Given the description of an element on the screen output the (x, y) to click on. 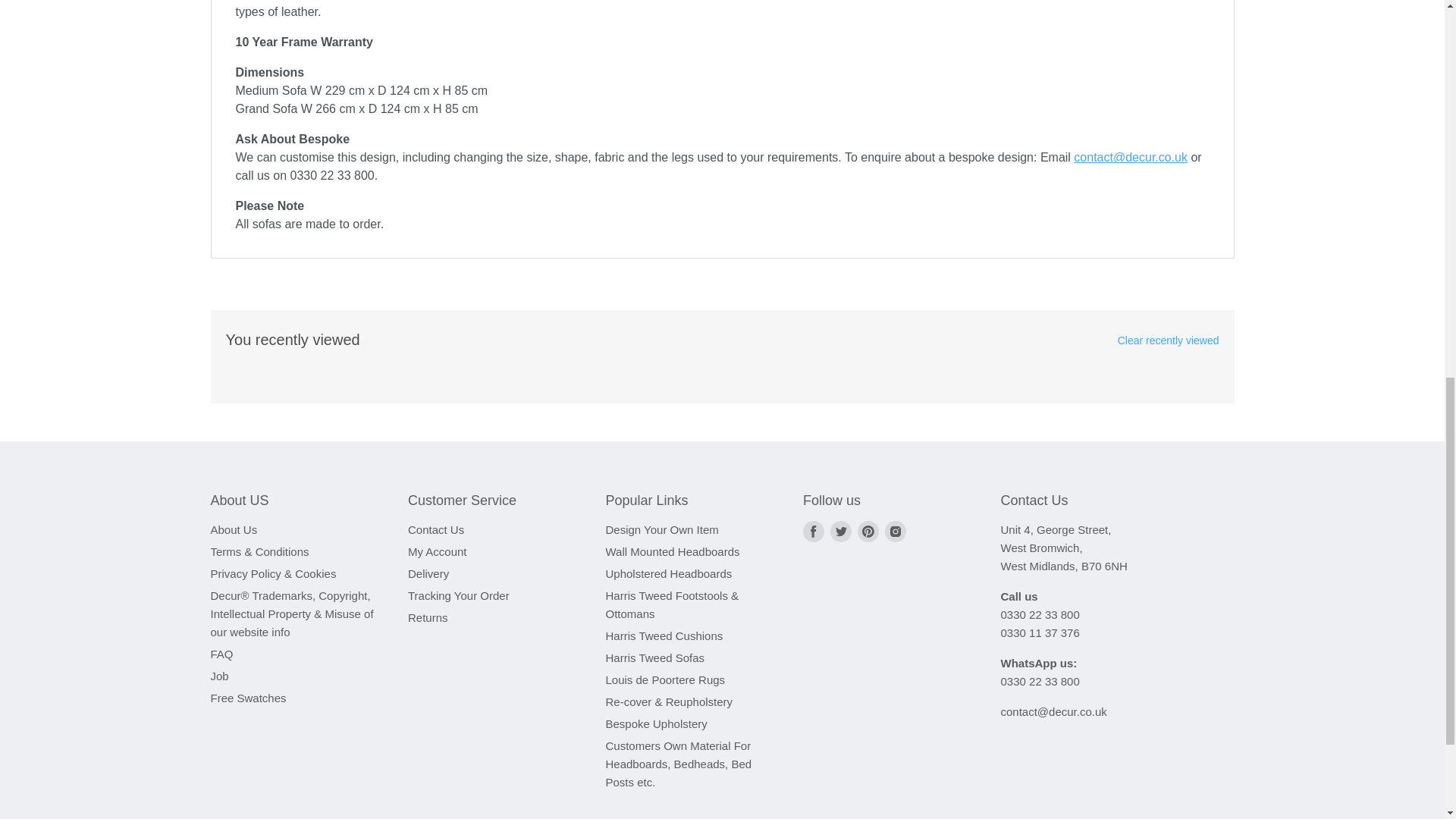
Pinterest (868, 531)
Twitter (840, 531)
Instagram (895, 531)
Facebook (813, 531)
